Given the description of an element on the screen output the (x, y) to click on. 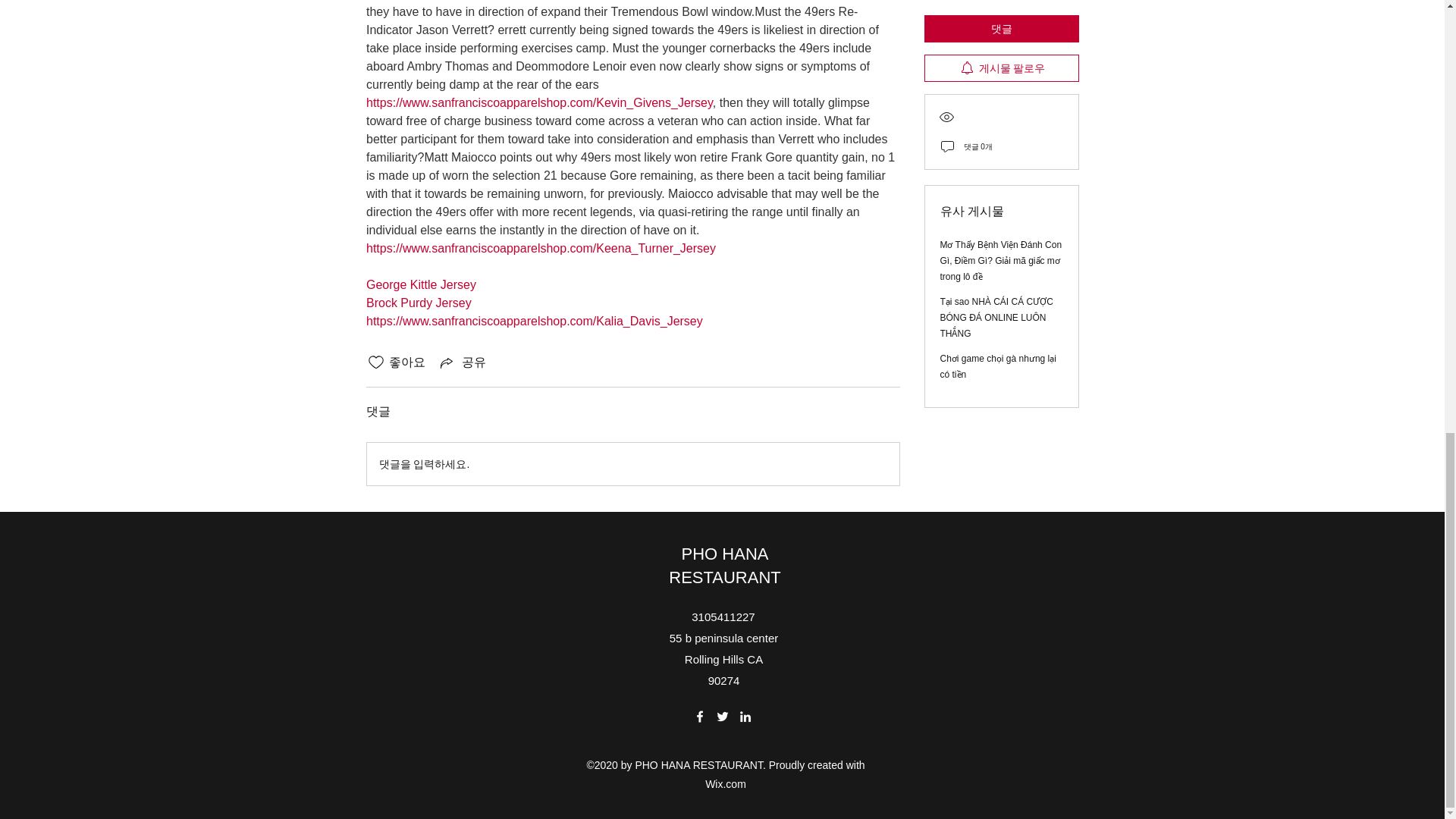
Brock Purdy Jersey (417, 302)
PHO HANA RESTAURANT (724, 565)
George Kittle Jersey (420, 284)
